Given the description of an element on the screen output the (x, y) to click on. 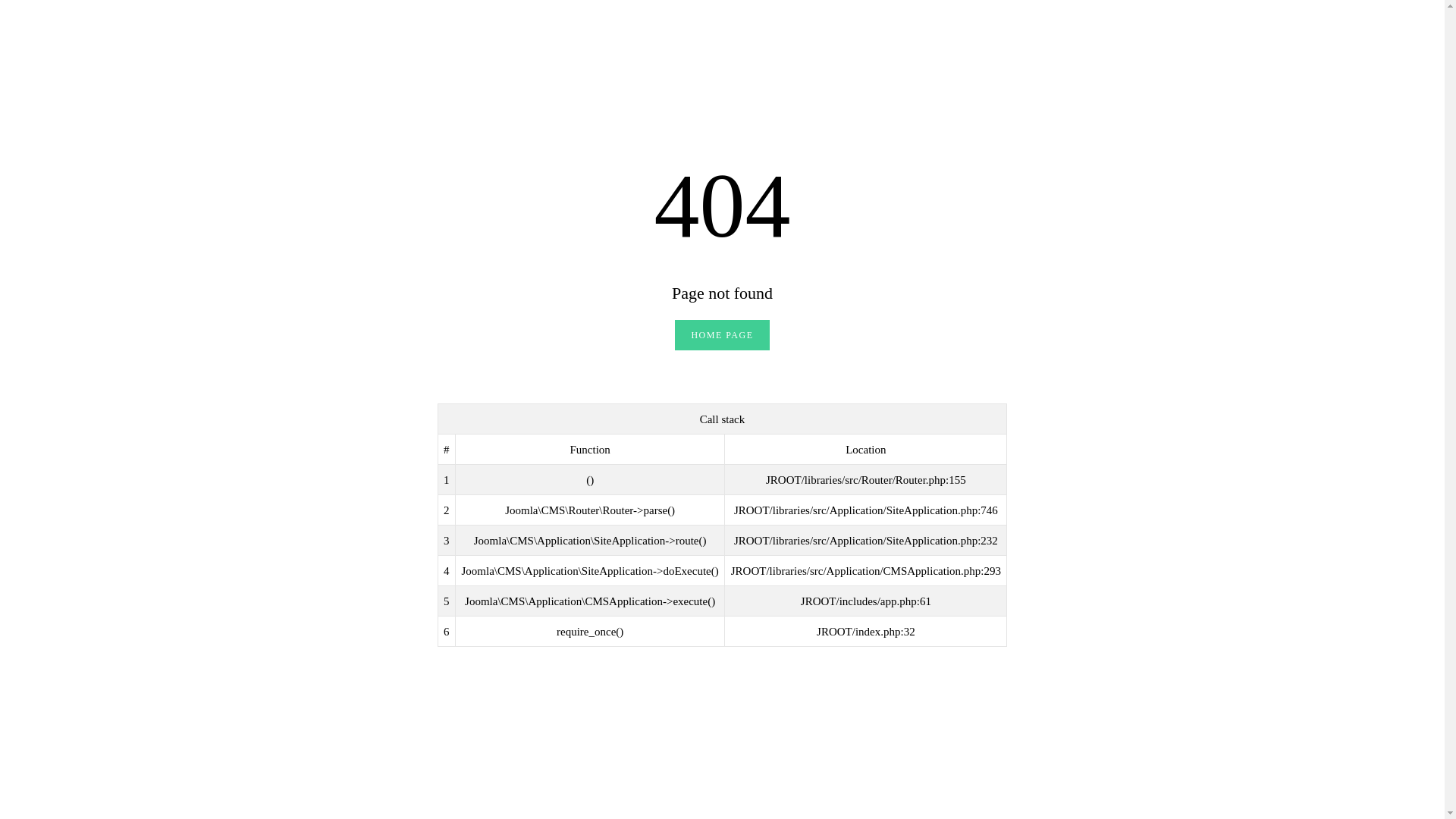
HOME PAGE (721, 335)
